Given the description of an element on the screen output the (x, y) to click on. 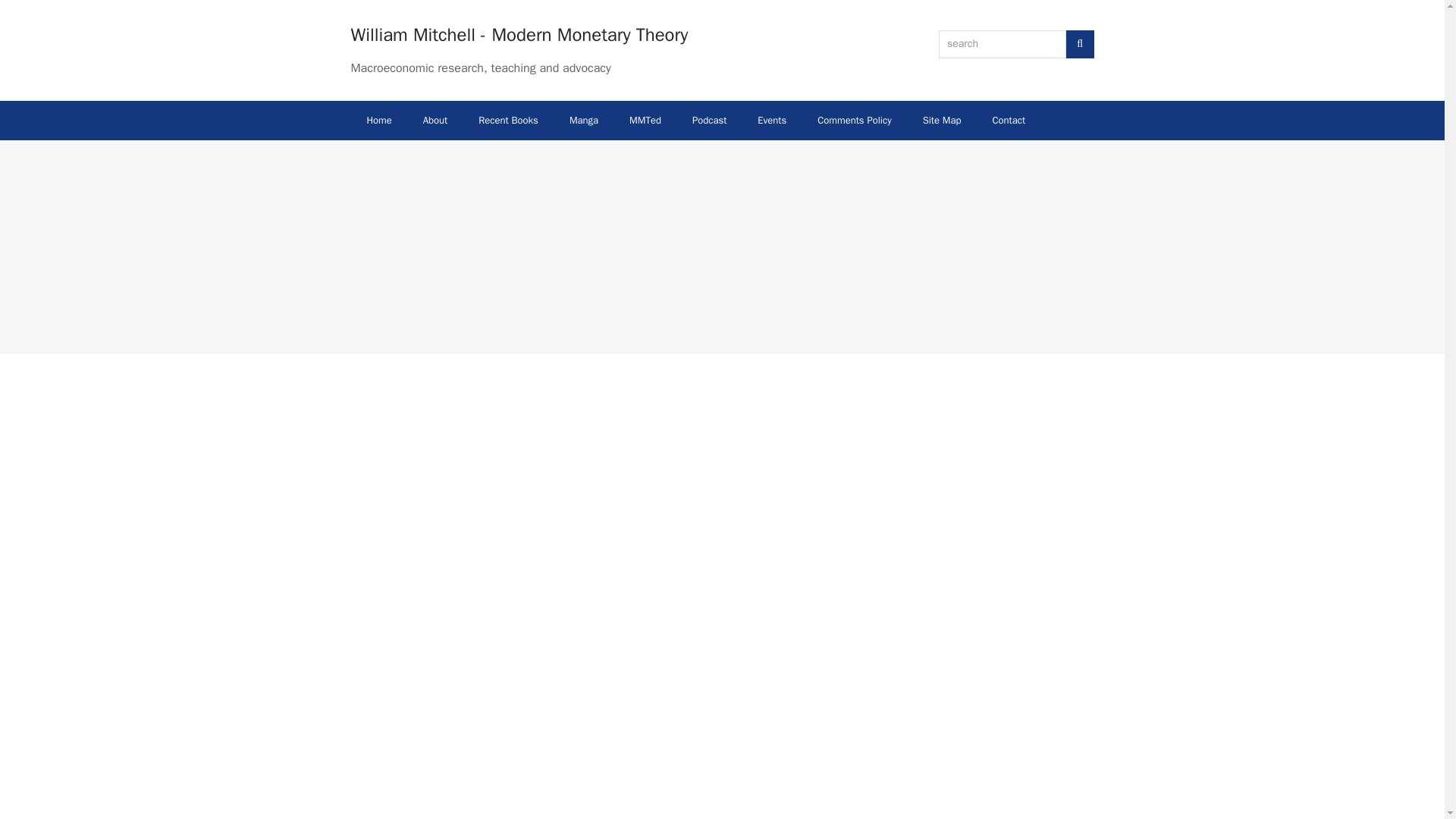
About (435, 120)
Site Map (941, 120)
MMTed (645, 120)
Search (1079, 44)
Events (772, 120)
Home (379, 120)
Contact (1008, 120)
Podcast (709, 120)
Manga (583, 120)
Comments Policy (853, 120)
Recent Books (508, 120)
William Mitchell - Modern Monetary Theory (518, 34)
